Given the description of an element on the screen output the (x, y) to click on. 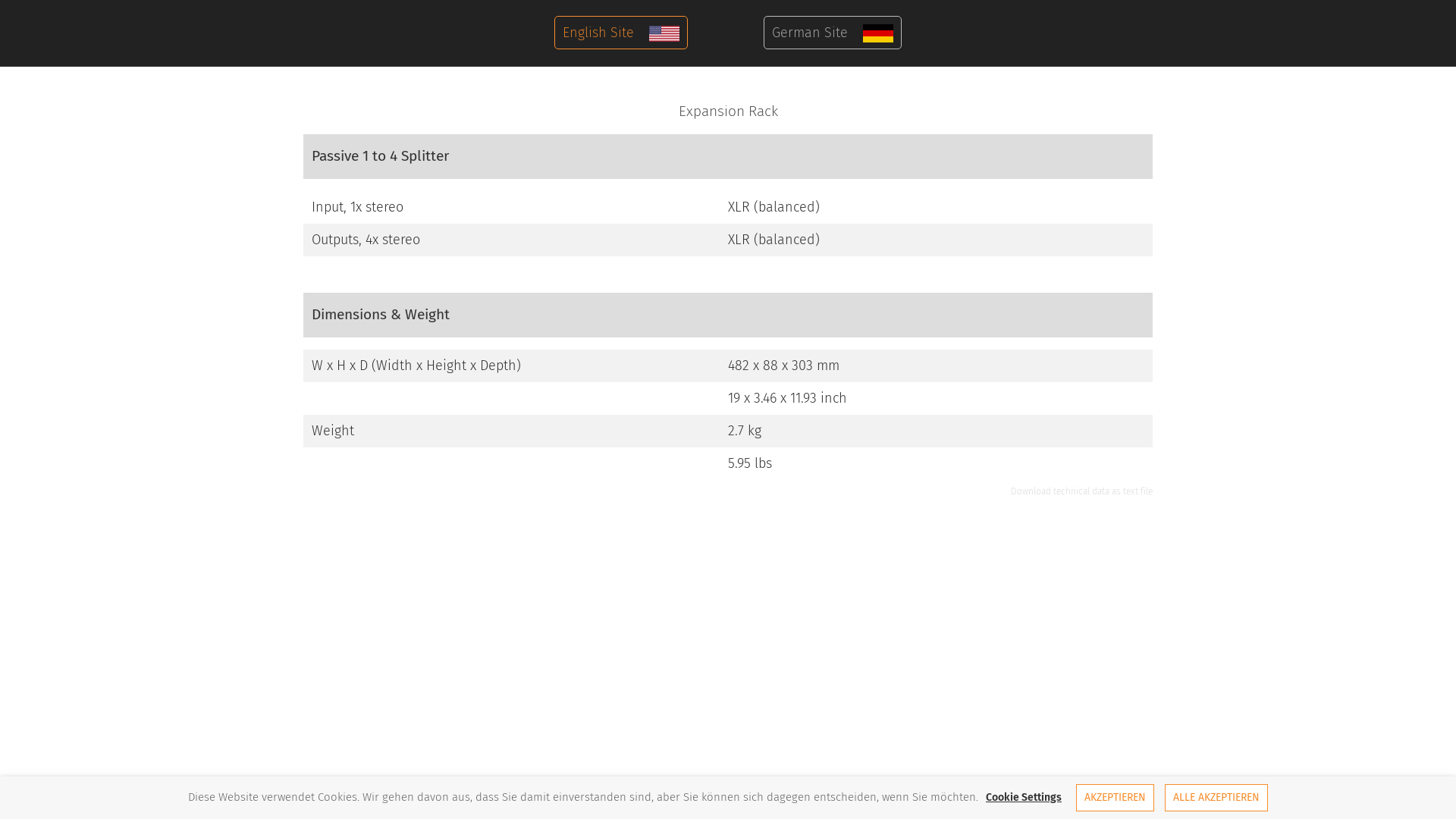
ALLE AKZEPTIEREN Element type: text (1215, 797)
Cookie Settings Element type: text (1023, 797)
Download technical data as text file Element type: text (1081, 491)
German Site Element type: text (832, 32)
English Site Element type: text (620, 32)
AKZEPTIEREN Element type: text (1115, 797)
